Given the description of an element on the screen output the (x, y) to click on. 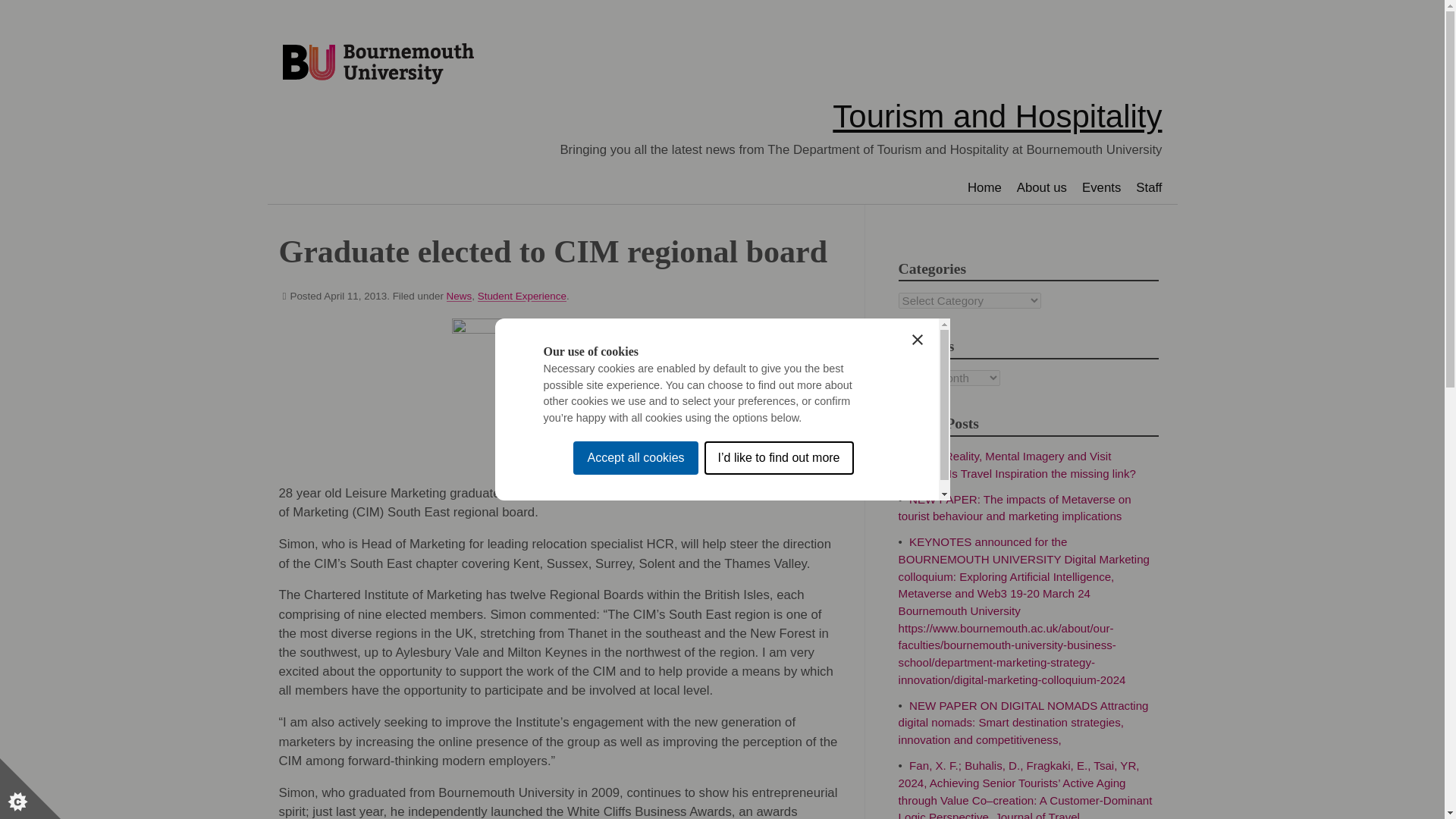
Events (1101, 187)
Student Experience (521, 296)
About us (1041, 187)
Bournemouth University home page (377, 64)
Bournemouth University (377, 64)
Tourism and Hospitality (996, 116)
Home (984, 187)
Simon Hood (565, 391)
Staff (1148, 187)
News (458, 296)
Accept all cookies (635, 619)
